Given the description of an element on the screen output the (x, y) to click on. 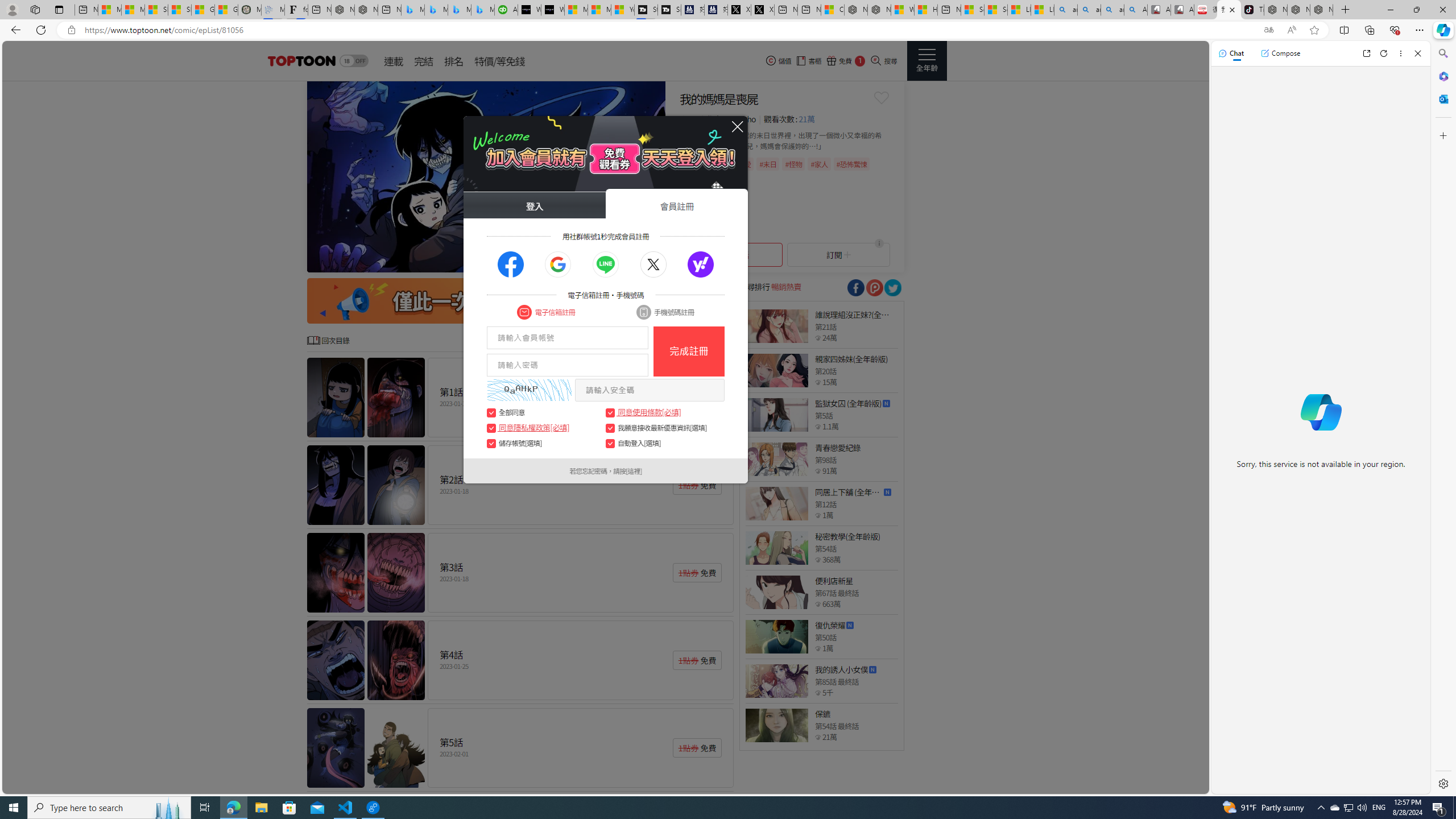
Nordace - Siena Pro 15 Essential Set (1321, 9)
Go to slide 7 (625, 261)
header (300, 60)
Nordace Siena Pro 15 Backpack (1298, 9)
Class: swiper-slide swiper-slide-prev (486, 176)
Go to slide 3 (588, 261)
Microsoft Bing Travel - Stays in Bangkok, Bangkok, Thailand (435, 9)
